Given the description of an element on the screen output the (x, y) to click on. 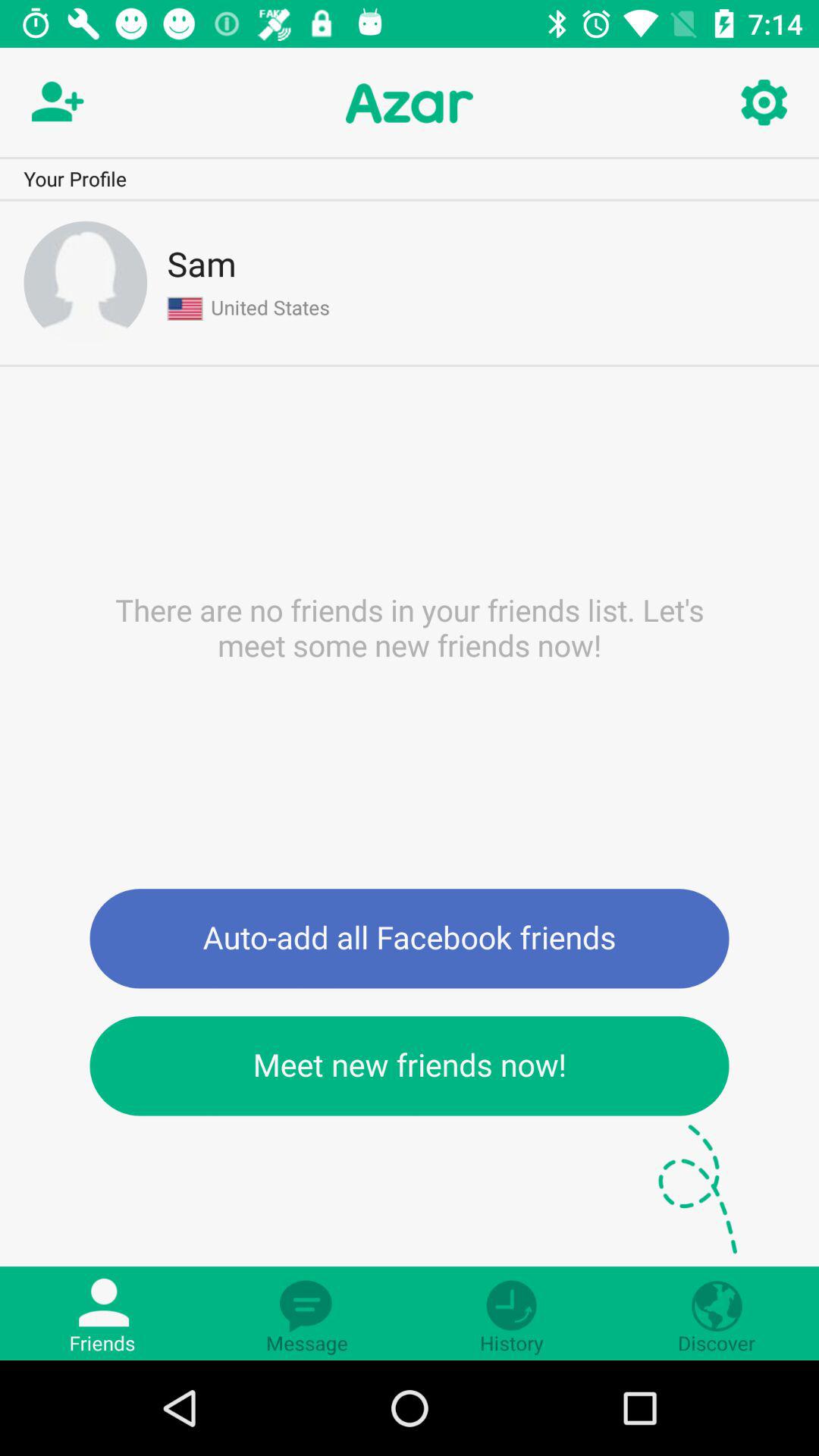
open item above the meet new friends icon (409, 938)
